Given the description of an element on the screen output the (x, y) to click on. 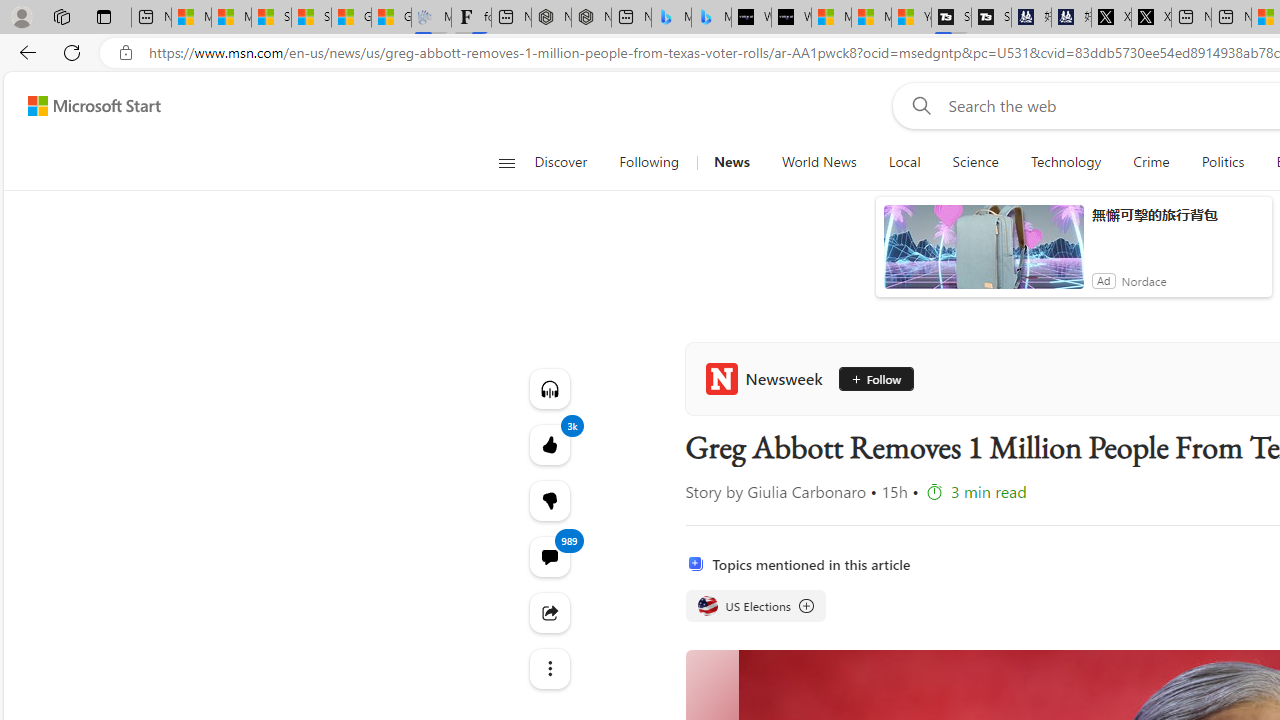
Newsweek (767, 378)
World News (818, 162)
Class: button-glyph (505, 162)
Crime (1151, 162)
Share this story (548, 612)
Politics (1222, 162)
